Given the description of an element on the screen output the (x, y) to click on. 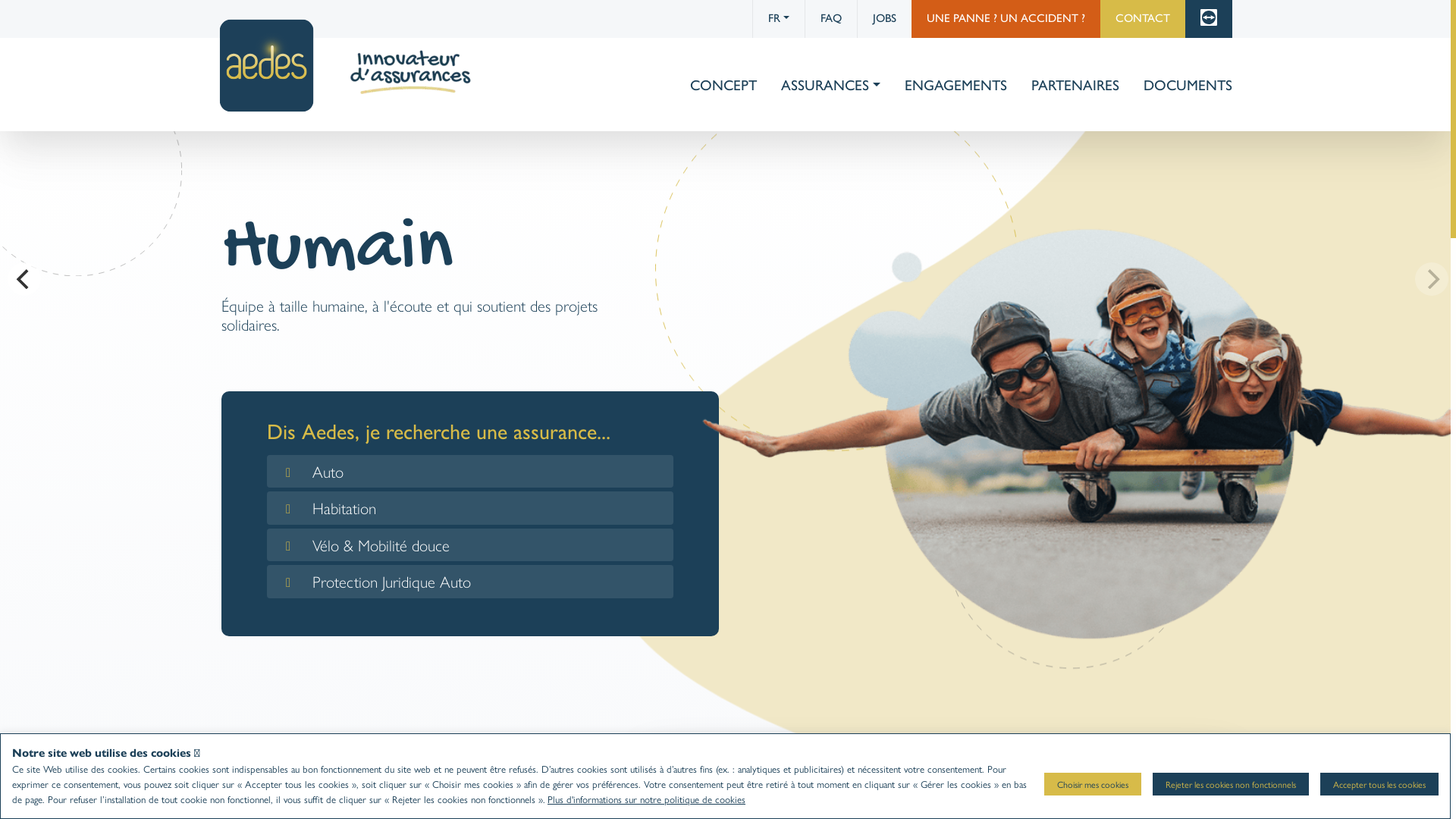
DOCUMENTS Element type: text (1181, 84)
Choisir mes cookies Element type: text (1092, 783)
ASSURANCES Element type: text (830, 84)
Accepter tous les cookies Element type: text (1379, 783)
CONTACT Element type: text (1141, 18)
FR Element type: text (778, 18)
PARTENAIRES Element type: text (1075, 84)
JOBS Element type: text (883, 18)
ENGAGEMENTS Element type: text (954, 84)
Rejeter les cookies non fonctionnels Element type: text (1230, 783)
CONCEPT Element type: text (722, 84)
TEAMVIEWER Element type: text (1207, 18)
UNE PANNE ? UN ACCIDENT ? Element type: text (1005, 18)
FAQ Element type: text (829, 18)
Plus d'informations sur notre politique de cookies Element type: text (646, 798)
